Given the description of an element on the screen output the (x, y) to click on. 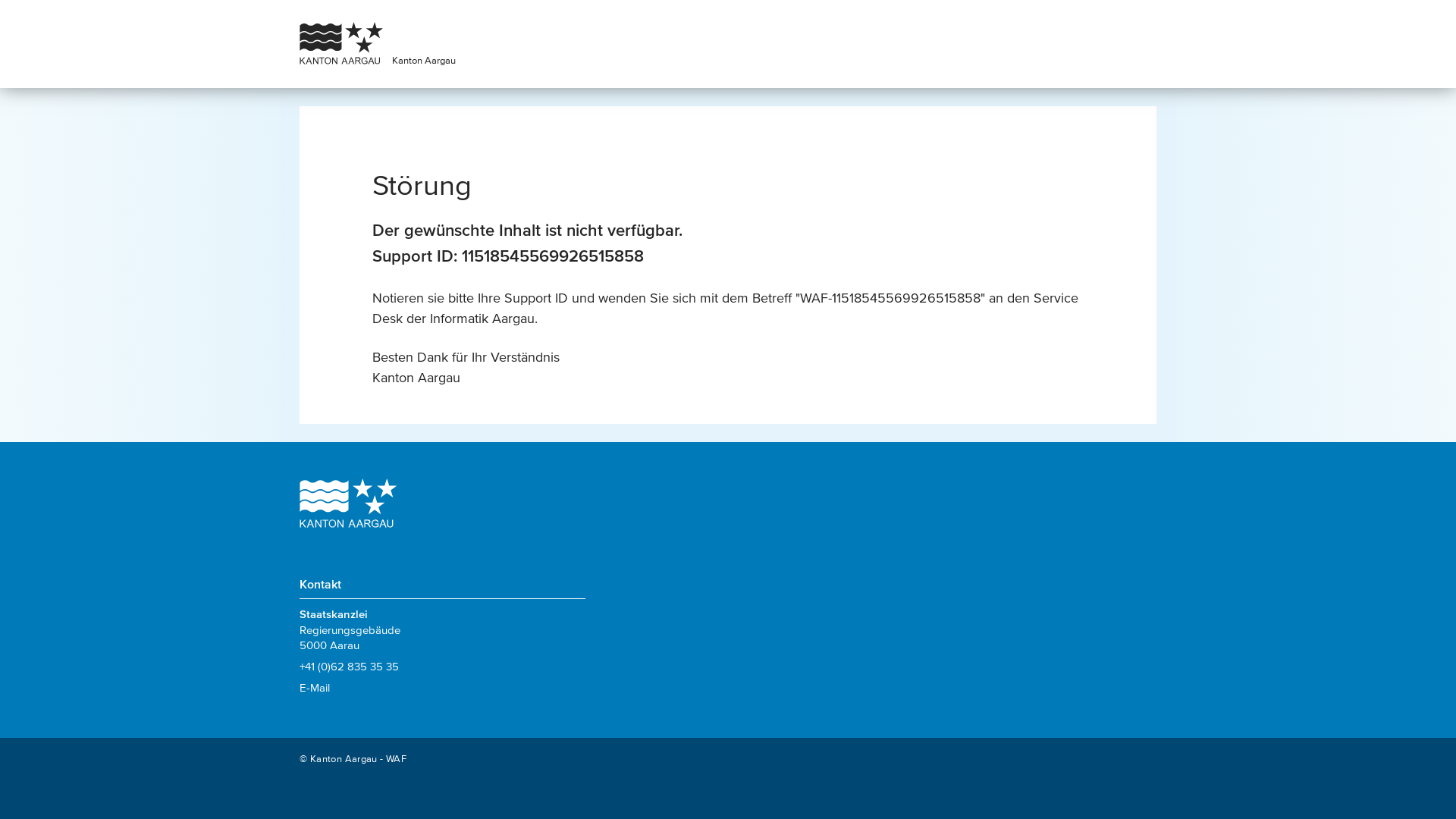
E-Mail Element type: text (314, 686)
Kanton Aargau Logo Element type: text (347, 504)
+41 (0)62 835 35 35 Element type: text (348, 665)
Kanton Aargau Element type: text (423, 59)
